Given the description of an element on the screen output the (x, y) to click on. 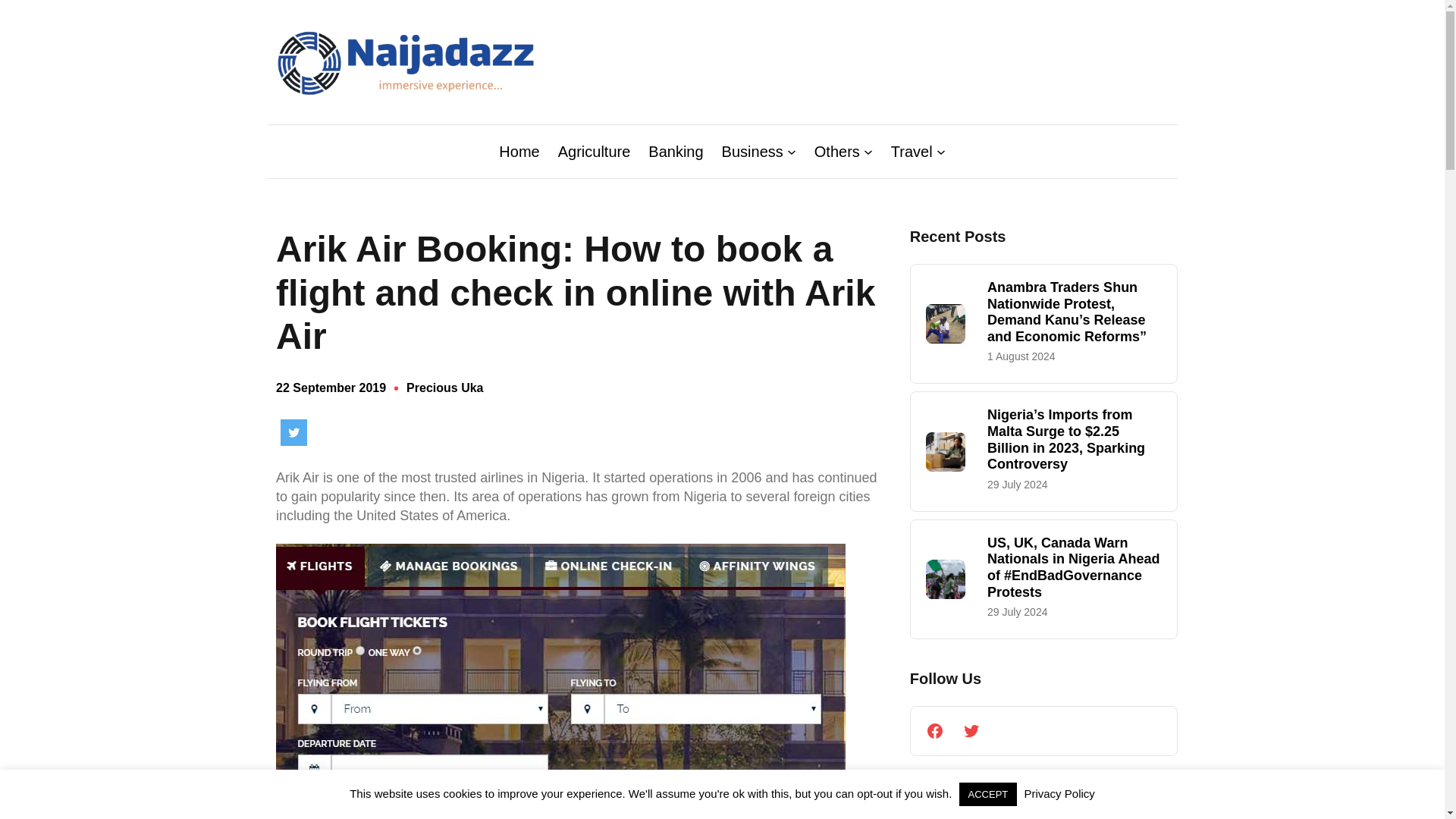
Agriculture (593, 151)
Precious Uka (444, 387)
Others (836, 151)
Business (752, 151)
Twitter (294, 432)
Travel (912, 151)
Banking (675, 151)
Home (518, 151)
